Given the description of an element on the screen output the (x, y) to click on. 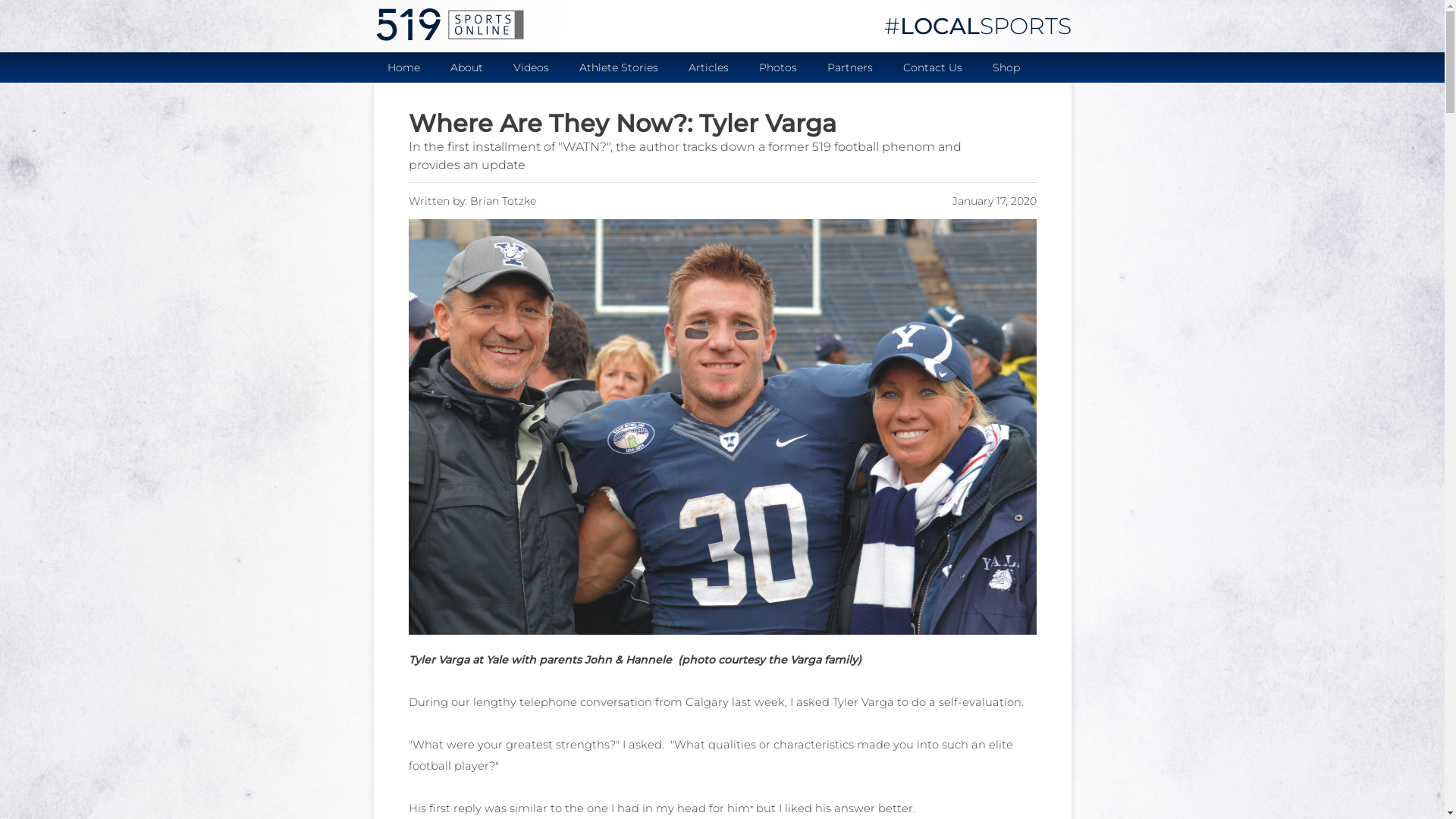
Photos Element type: text (776, 66)
Contact Us Element type: text (931, 66)
Videos Element type: text (531, 66)
Athlete Stories Element type: text (619, 66)
Shop Element type: text (1005, 66)
Partners Element type: text (848, 66)
Home Element type: text (403, 66)
